Given the description of an element on the screen output the (x, y) to click on. 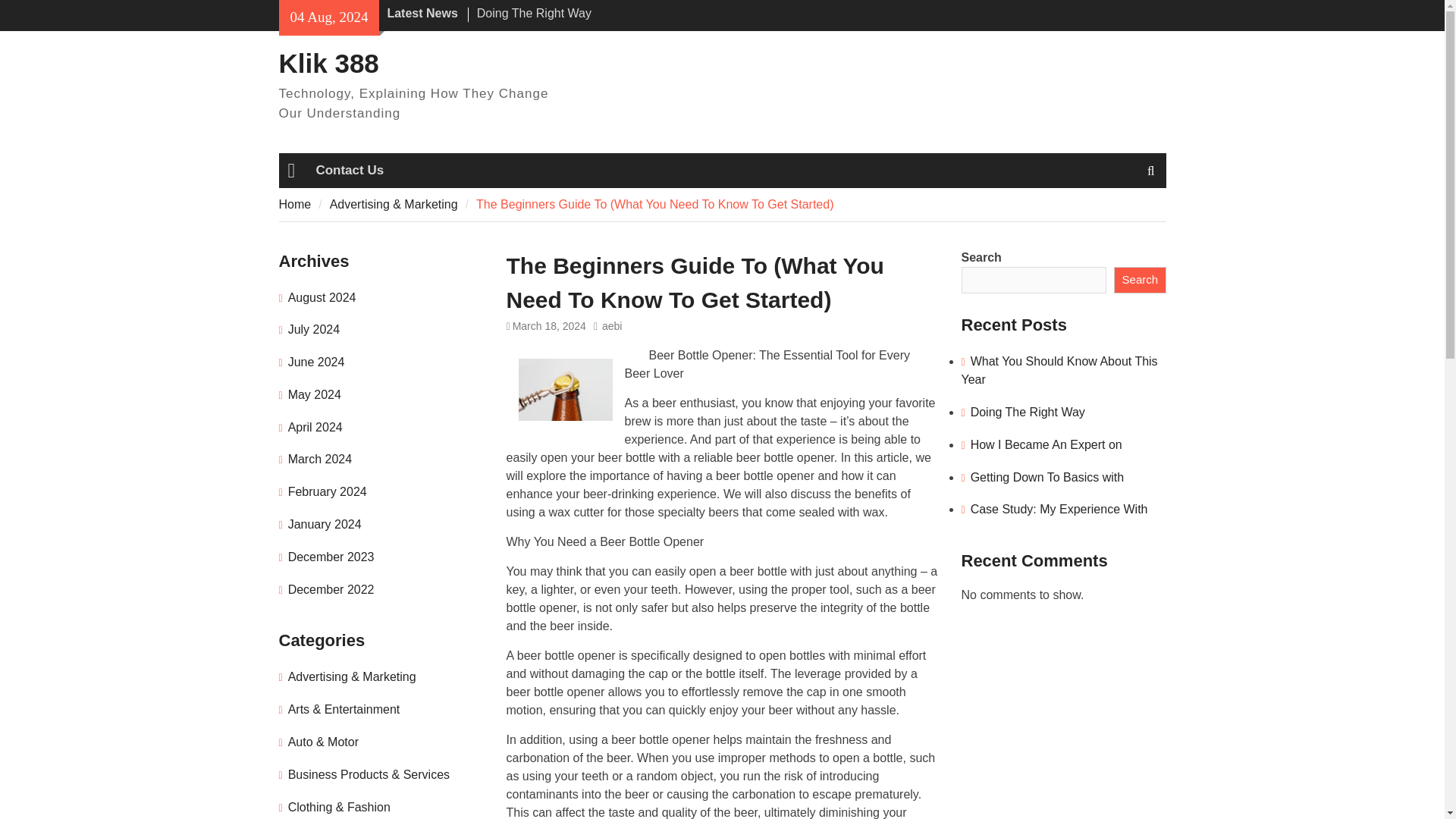
aebi (611, 326)
March 18, 2024 (549, 326)
What You Should Know About This Year (1058, 369)
July 2024 (314, 328)
January 2024 (324, 523)
Contact Us (349, 170)
Search (1139, 280)
Klik 388 (328, 62)
August 2024 (322, 297)
June 2024 (316, 361)
April 2024 (315, 427)
How I Became An Expert on (1046, 444)
Doing The Right Way (1027, 411)
Getting Down To Basics with (1047, 477)
February 2024 (327, 491)
